Given the description of an element on the screen output the (x, y) to click on. 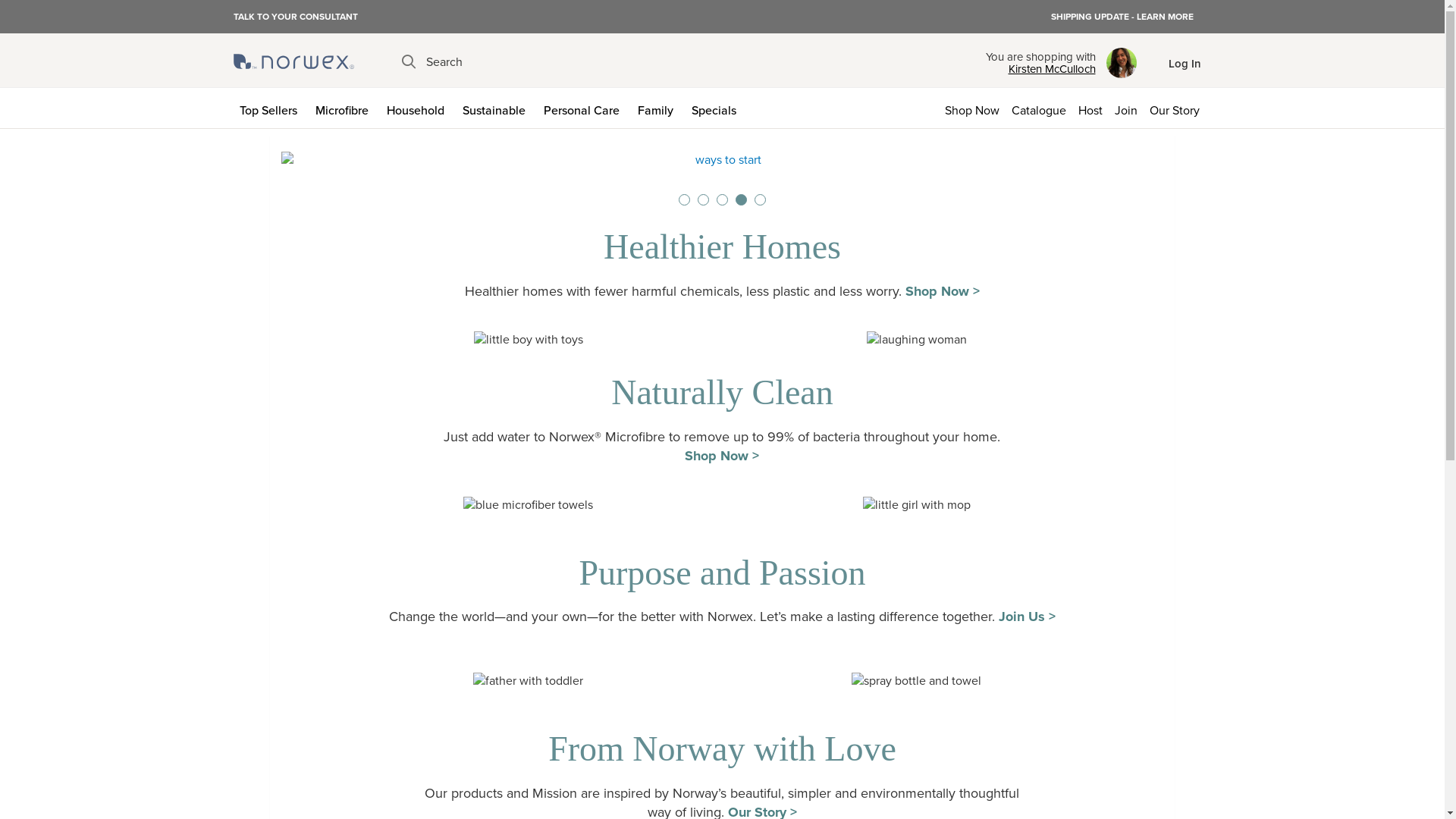
Join Element type: text (1125, 107)
SHIPPING UPDATE - LEARN MORE Element type: text (1122, 16)
Personal Care Element type: text (583, 107)
Host Element type: text (1090, 107)
Shop Now Element type: text (971, 107)
Top Sellers Element type: text (271, 107)
Shop Now > Element type: text (942, 291)
Family Element type: text (657, 107)
Sustainable Element type: text (496, 107)
Microfibre Element type: text (344, 107)
Catalogue Element type: text (1038, 107)
Search Element type: text (431, 61)
Our Story Element type: text (1177, 107)
Kirsten McCulloch Element type: text (1040, 68)
Shop Now > Element type: text (721, 455)
Join Us > Element type: text (1026, 616)
Household Element type: text (418, 107)
Specials Element type: text (716, 107)
